Given the description of an element on the screen output the (x, y) to click on. 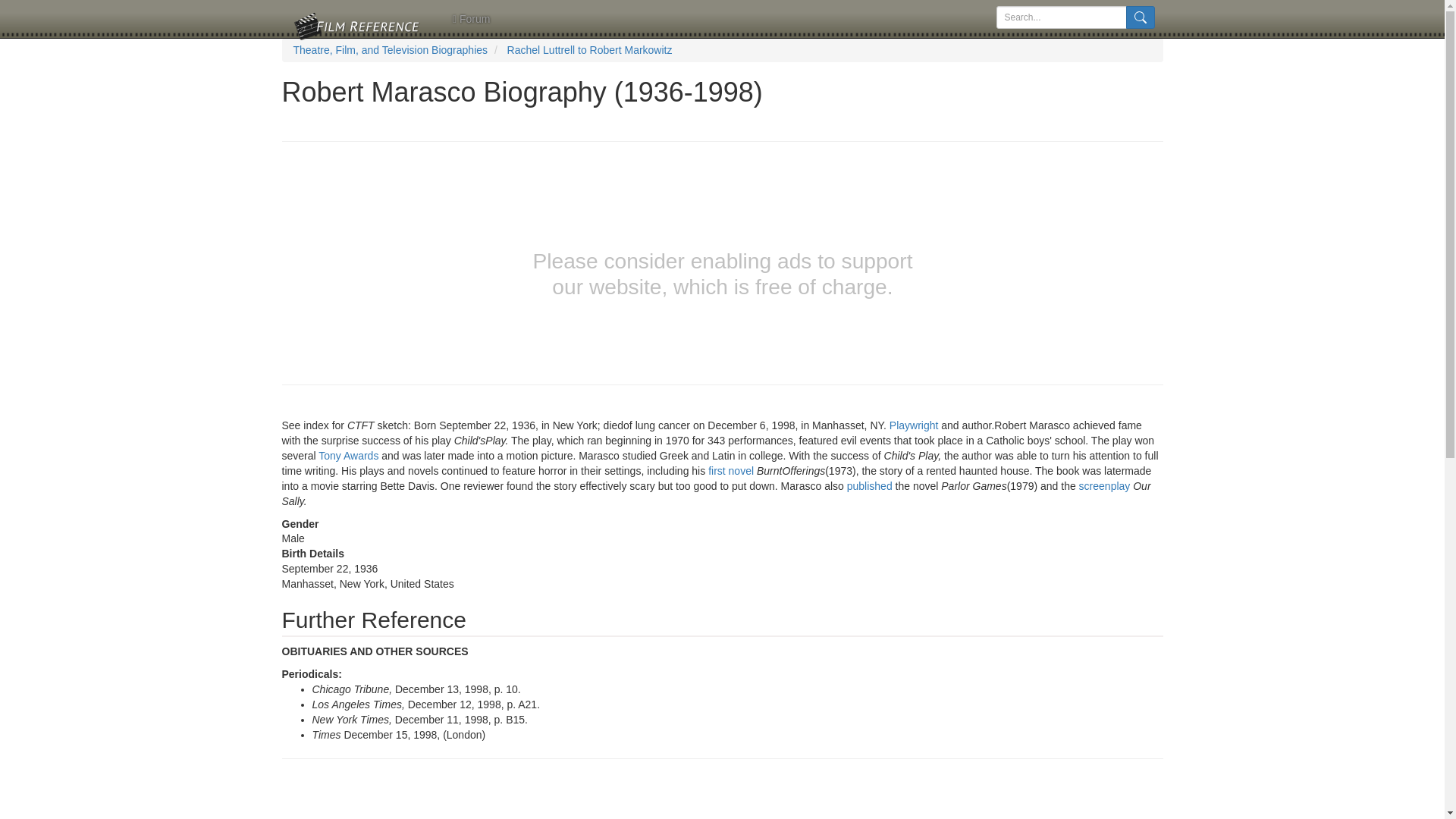
first novel (730, 470)
Advertisement (722, 796)
View 'first novel' definition from Wikipedia (730, 470)
View 'playwright' definition from Wikipedia (914, 425)
Rachel Luttrell to Robert Markowitz (589, 50)
Visit Movies Forum (470, 18)
View 'tony awards' definition from Wikipedia (348, 455)
Tony Awards (348, 455)
Theatre, Film, and Television Biographies (389, 50)
